Given the description of an element on the screen output the (x, y) to click on. 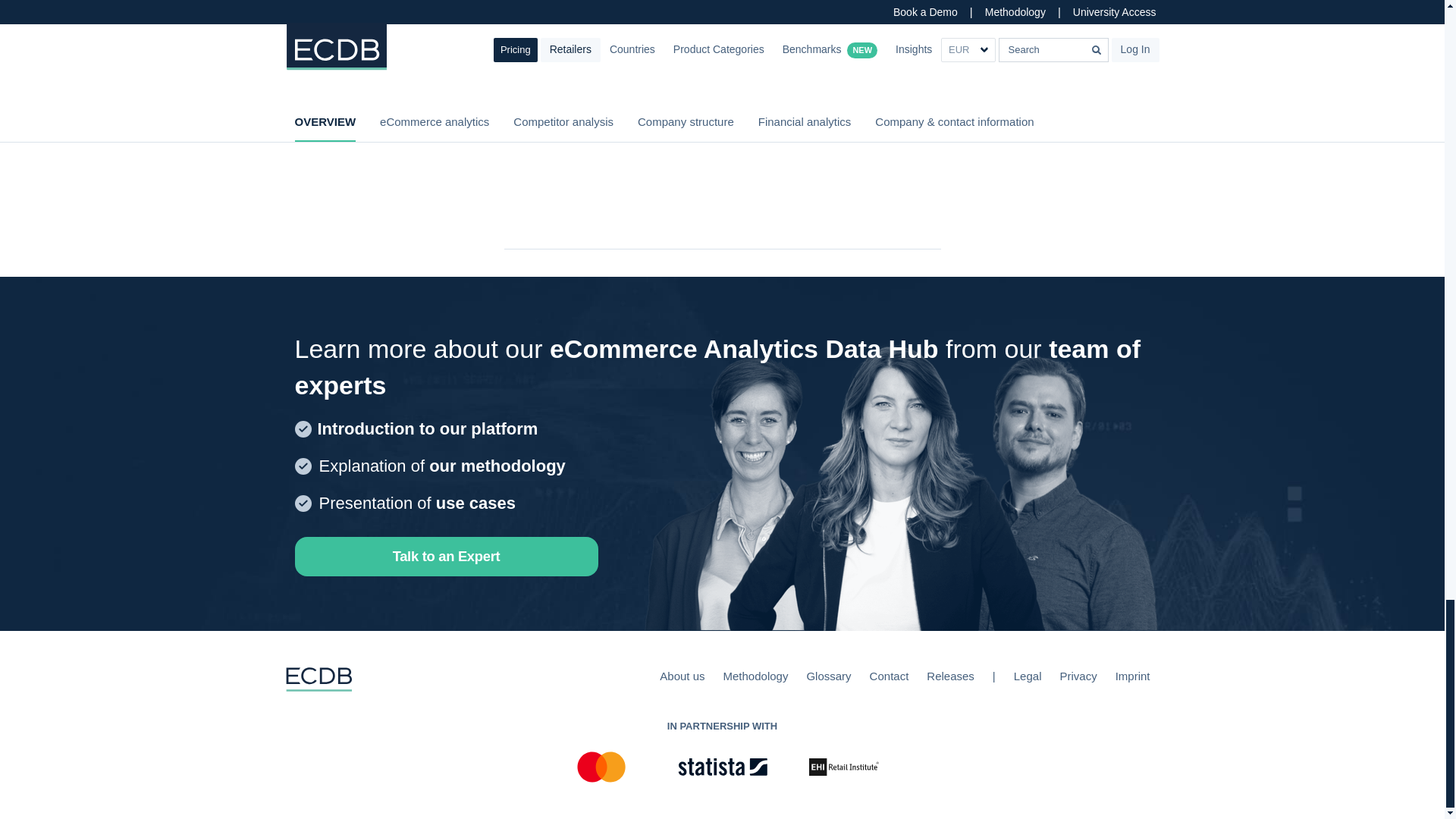
Mastercard (600, 766)
EHI Retail Institute (842, 766)
Statista (722, 766)
